Given the description of an element on the screen output the (x, y) to click on. 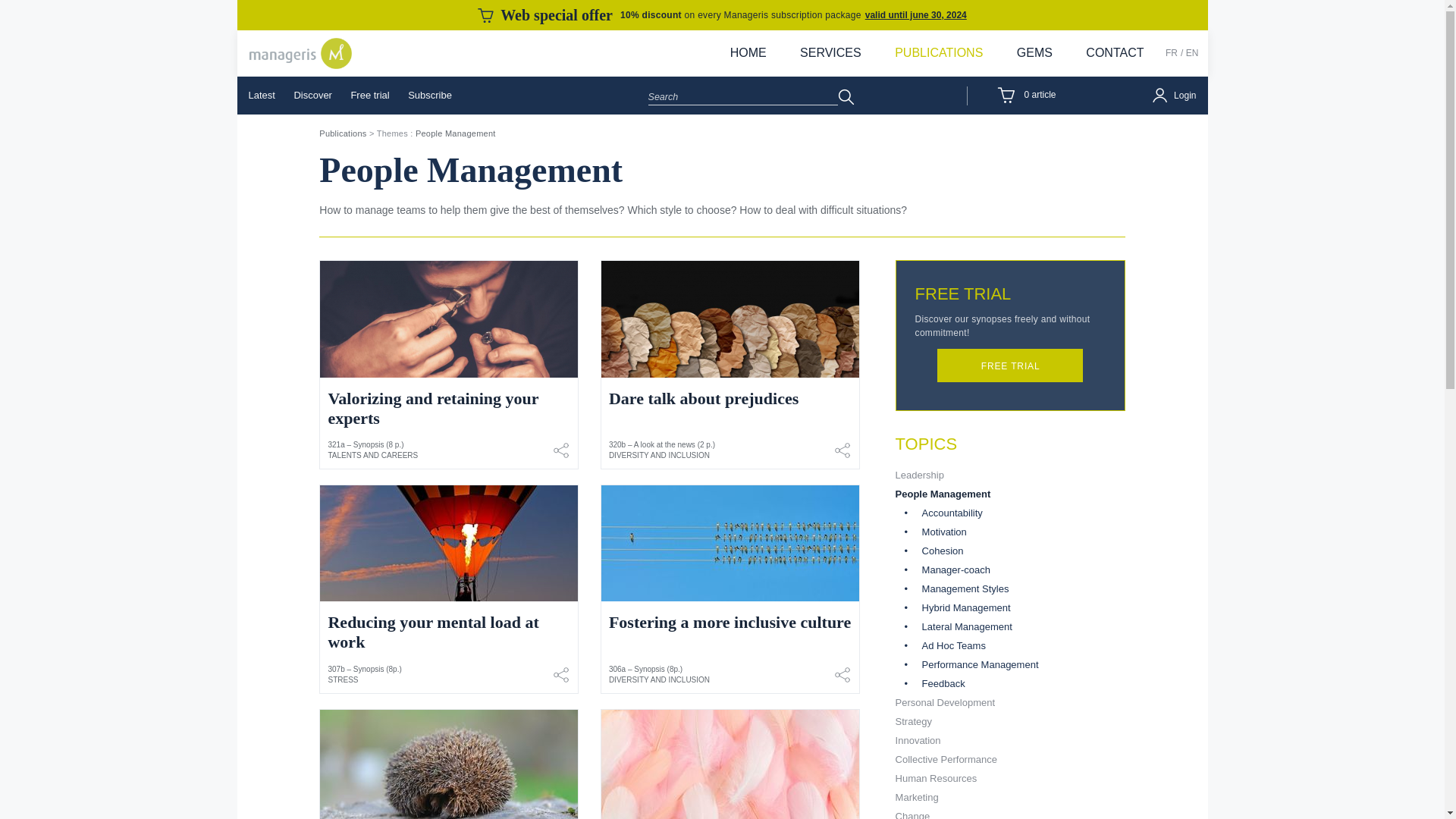
Share (561, 450)
Free trial (369, 94)
EN (1192, 52)
Manageris (299, 52)
Share (561, 674)
PUBLICATIONS (938, 52)
CONTACT (1114, 52)
Latest (261, 94)
GEMS (1034, 52)
Share (842, 674)
Discover (312, 94)
OK (846, 96)
Search (742, 96)
Subscribe (430, 94)
Share (842, 450)
